Given the description of an element on the screen output the (x, y) to click on. 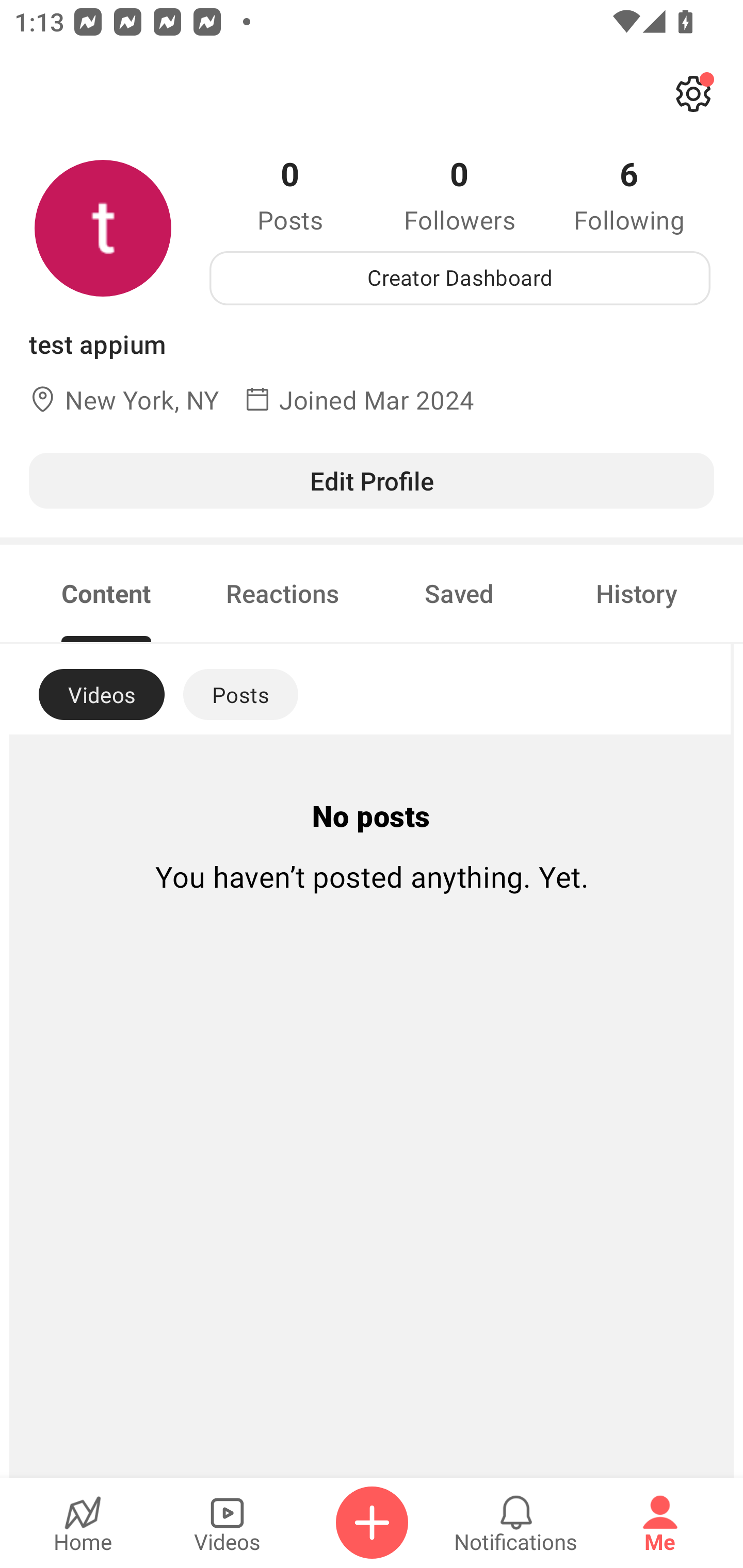
0 Followers (459, 194)
6 Following (629, 194)
Creator Dashboard (459, 277)
Edit Profile (371, 480)
Reactions (282, 593)
Saved (459, 593)
History (636, 593)
Posts (240, 694)
Home (83, 1522)
Videos (227, 1522)
Notifications (516, 1522)
